Given the description of an element on the screen output the (x, y) to click on. 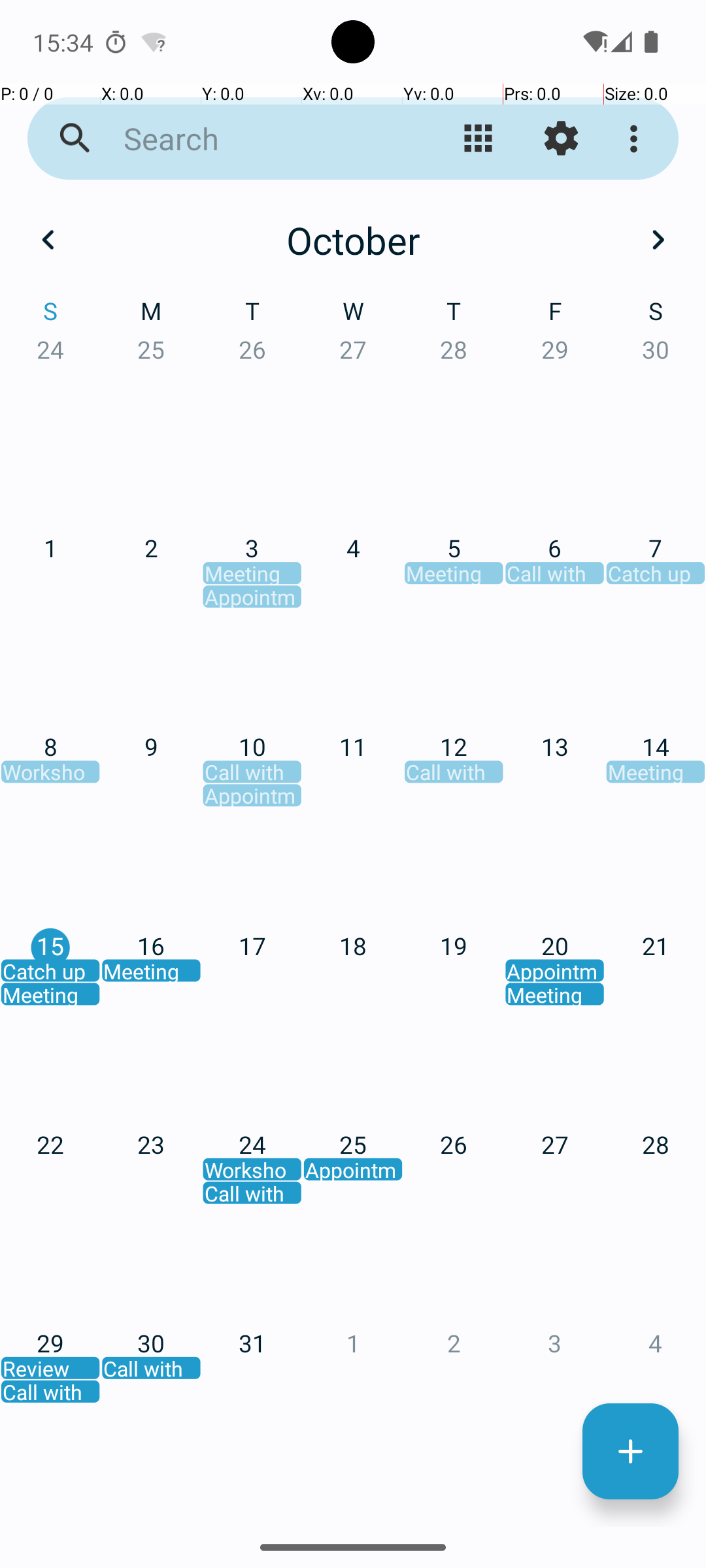
Android System notification: AndroidWifi has limited connectivity Element type: android.widget.ImageView (153, 41)
Wifi signal full.,No internet Element type: android.widget.FrameLayout (593, 41)
